Given the description of an element on the screen output the (x, y) to click on. 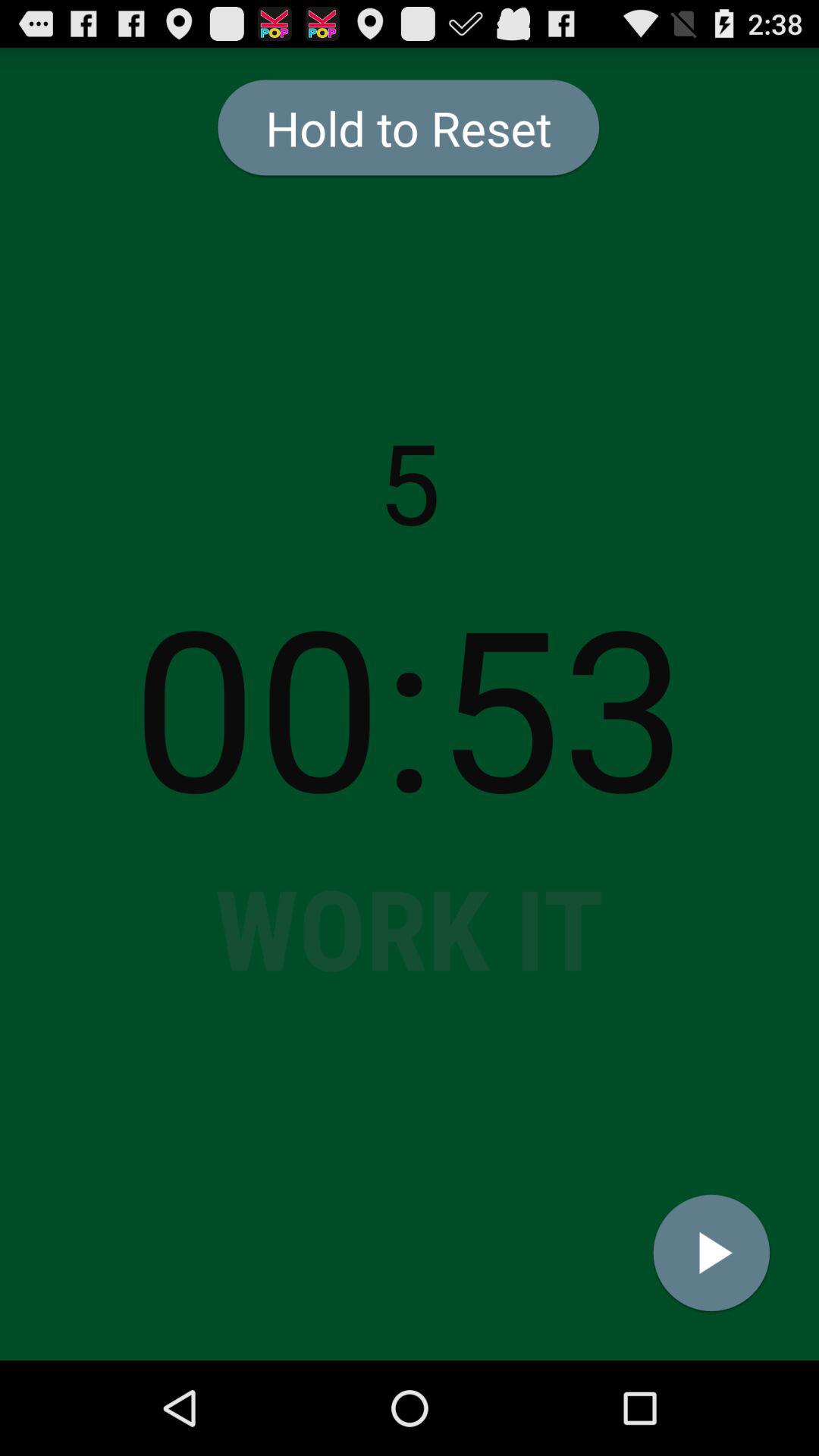
choose the icon at the bottom right corner (711, 1252)
